Given the description of an element on the screen output the (x, y) to click on. 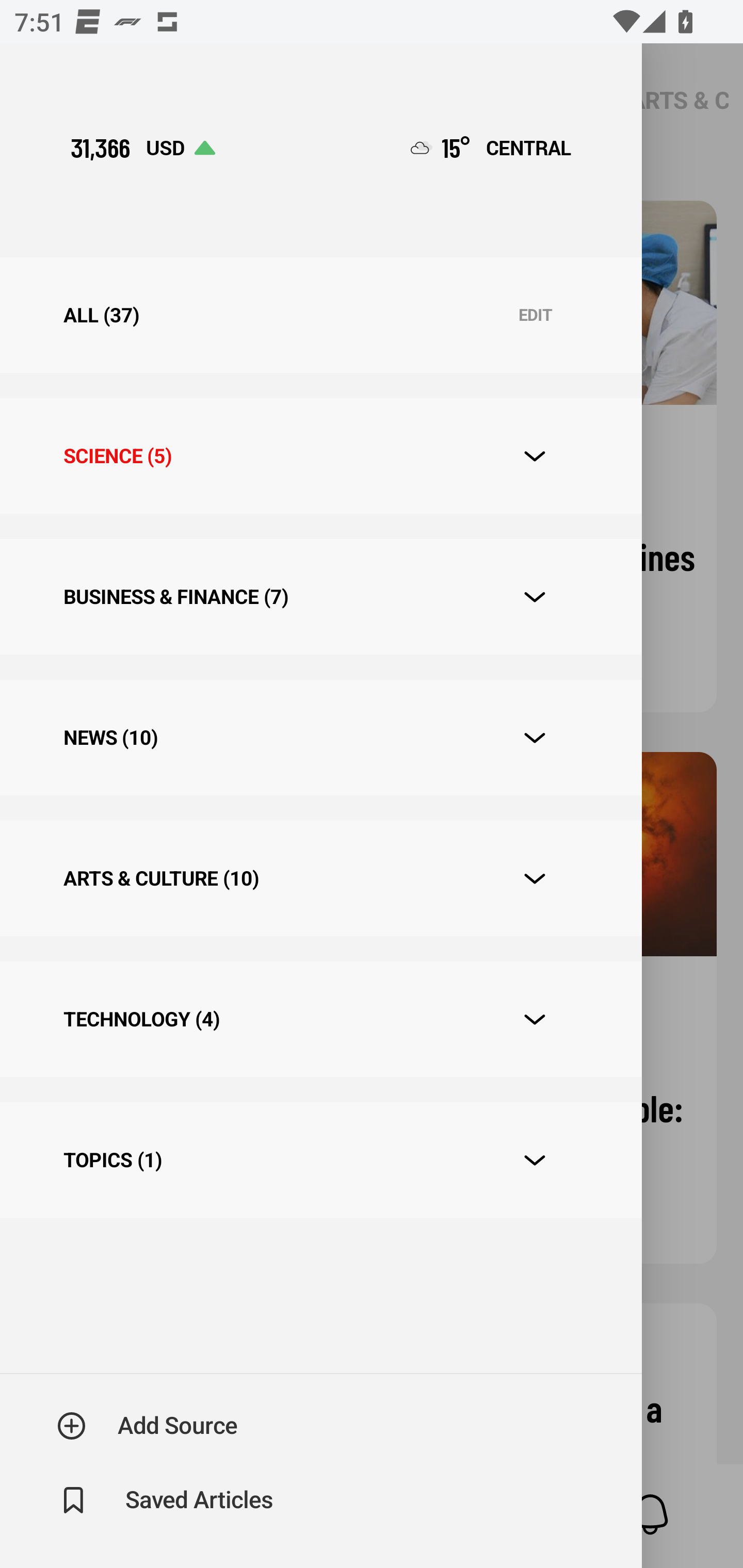
31,366 USD Current State of the Currency (142, 147)
Current State of the Weather 15° CENTRAL (490, 147)
ALL  (37) EDIT (320, 315)
EDIT (534, 315)
SCIENCE  (5) Expand Button (320, 456)
Expand Button (534, 456)
BUSINESS & FINANCE  (7) Expand Button (320, 596)
Expand Button (534, 597)
NEWS  (10) Expand Button (320, 737)
Expand Button (534, 737)
ARTS & CULTURE  (10) Expand Button (320, 878)
Expand Button (534, 878)
TECHNOLOGY  (4) Expand Button (320, 1019)
Expand Button (534, 1019)
TOPICS  (1) Expand Button (320, 1160)
Expand Button (534, 1160)
Open Content Store Add Source (147, 1425)
Open Saved News  Saved Articles (166, 1500)
